Given the description of an element on the screen output the (x, y) to click on. 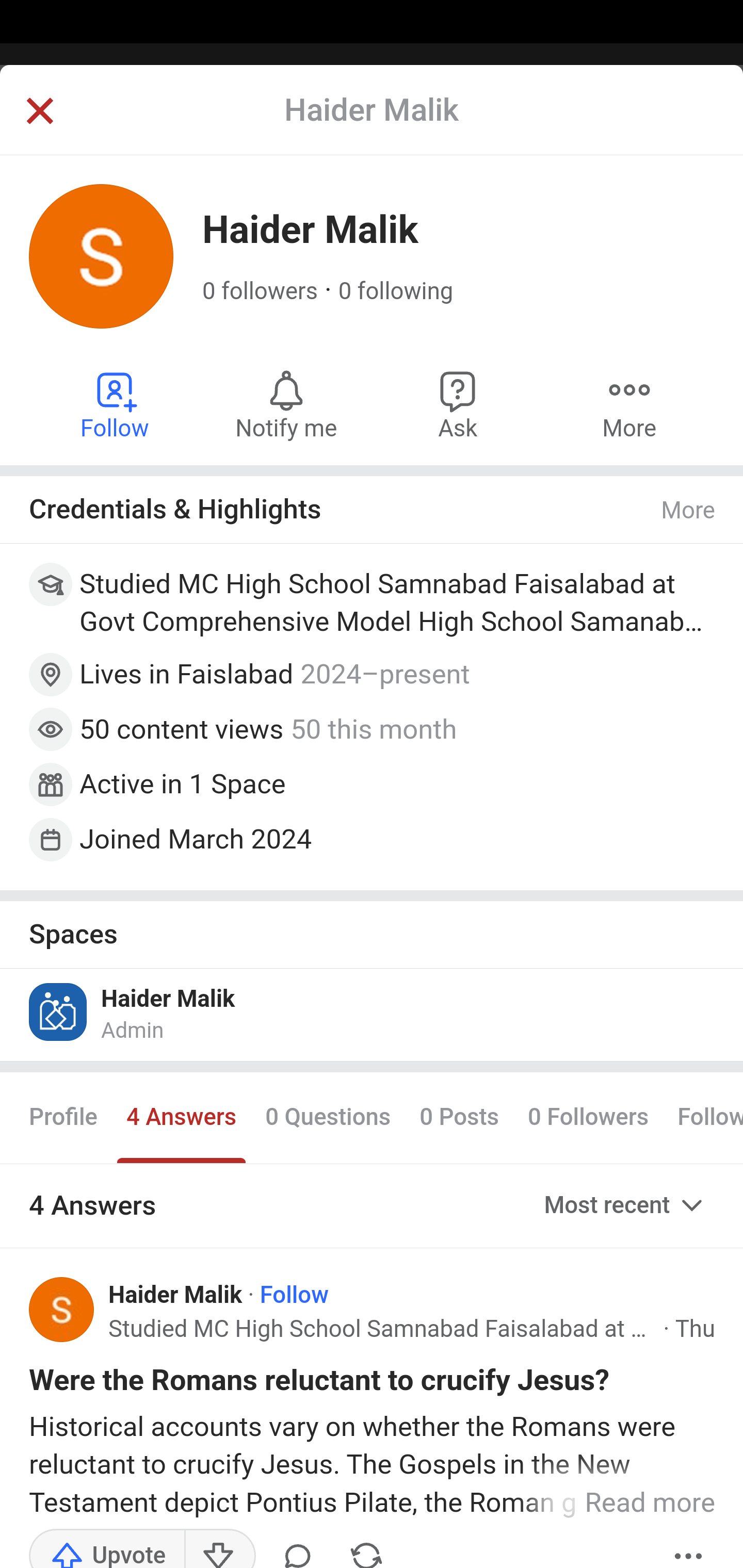
Back Answer (371, 125)
0 followers (260, 291)
0 following (395, 291)
Follow Haider Malik Follow (115, 404)
Notify me (285, 404)
Ask (458, 404)
More (628, 404)
More (688, 510)
Icon for Haider Malik (58, 1011)
Haider Malik (168, 998)
Profile (63, 1117)
4 Answers (180, 1117)
0 Questions (327, 1117)
0 Posts (459, 1117)
0 Followers (588, 1117)
Following (702, 1117)
Most recent (625, 1204)
Profile photo for Haider Malik (61, 1309)
Haider Malik (175, 1294)
Follow (293, 1294)
Thu (694, 1328)
